Given the description of an element on the screen output the (x, y) to click on. 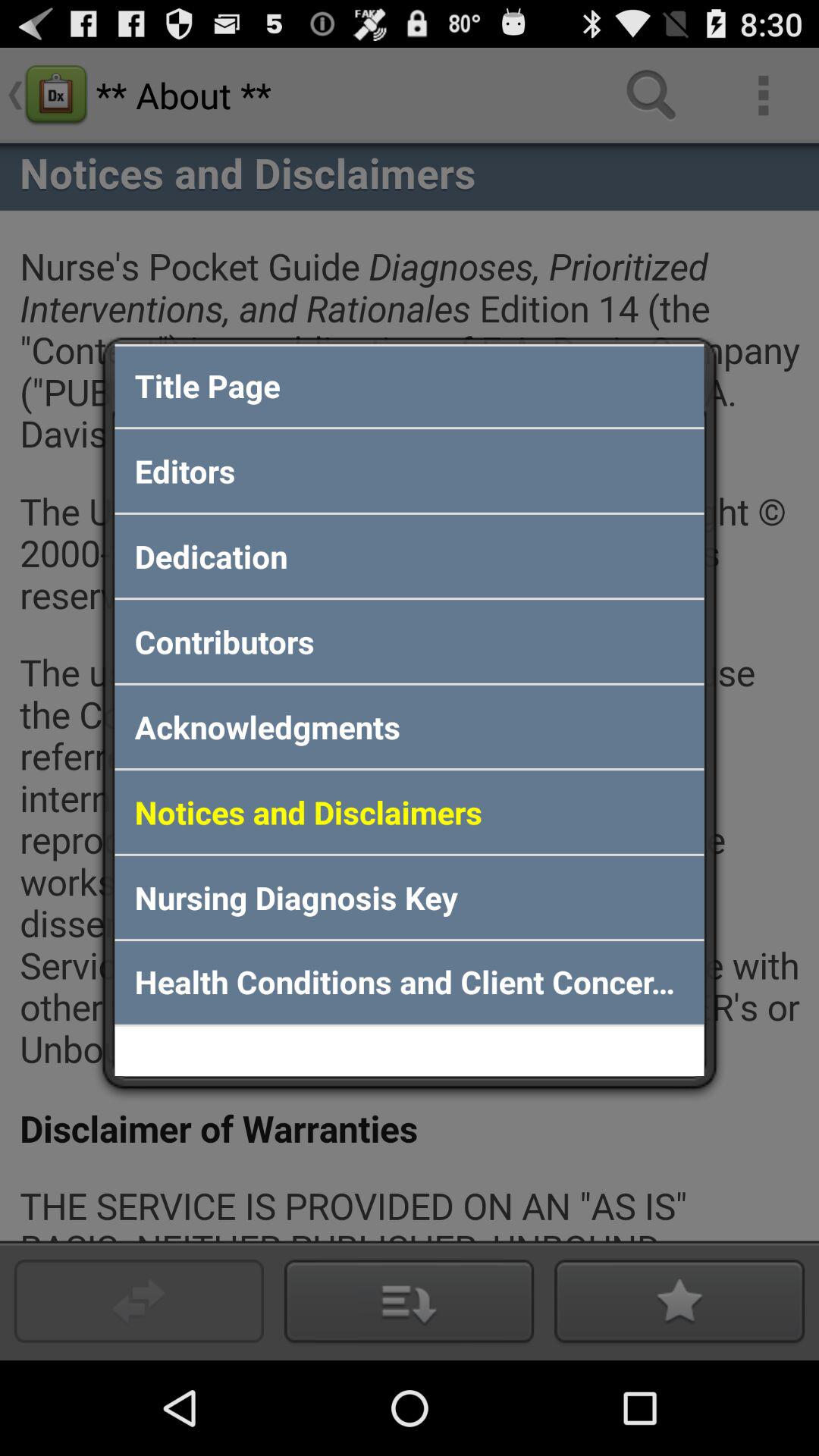
swipe until the nursing diagnosis key (409, 897)
